Given the description of an element on the screen output the (x, y) to click on. 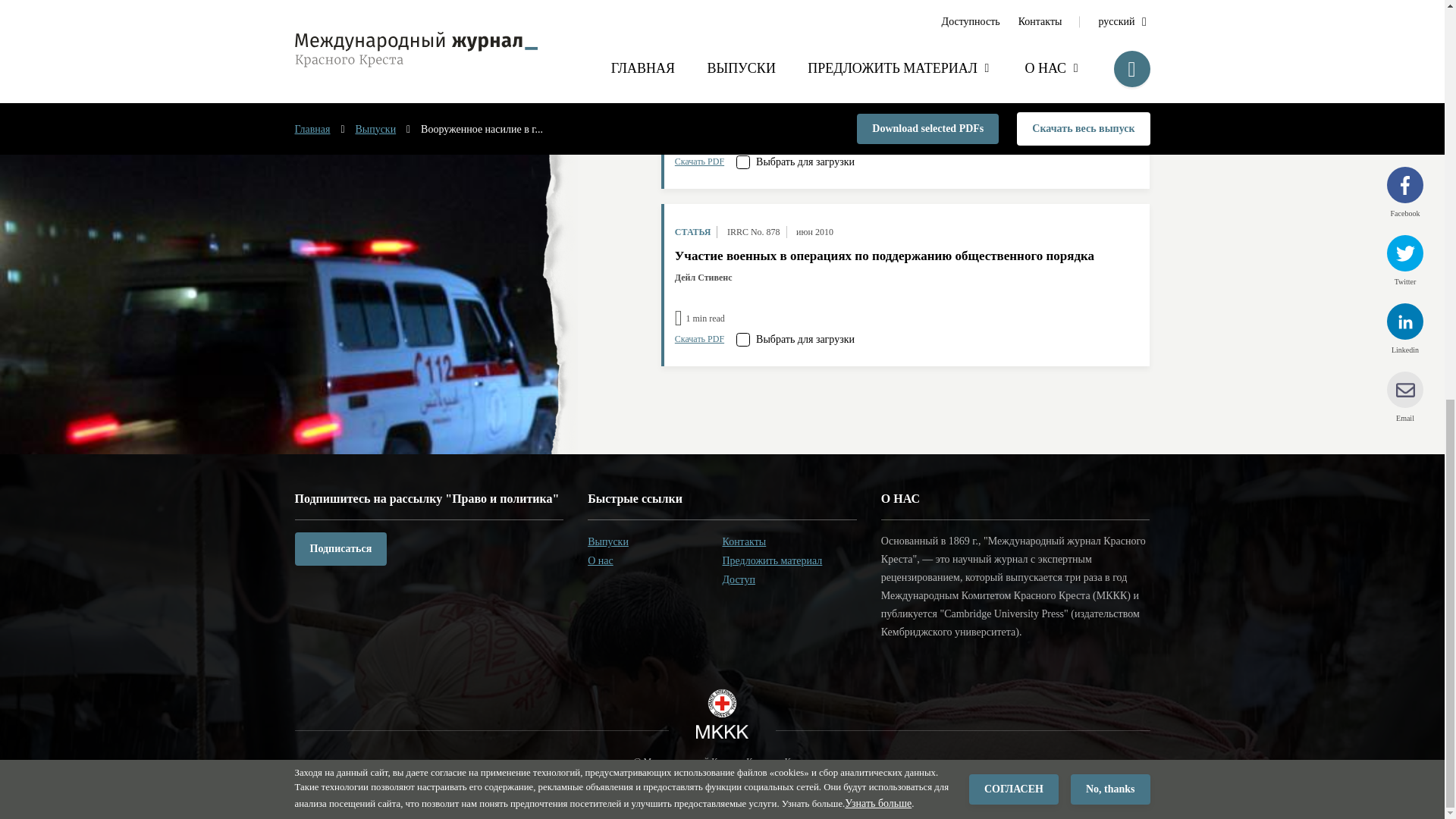
selected (742, 339)
selected (742, 161)
